Given the description of an element on the screen output the (x, y) to click on. 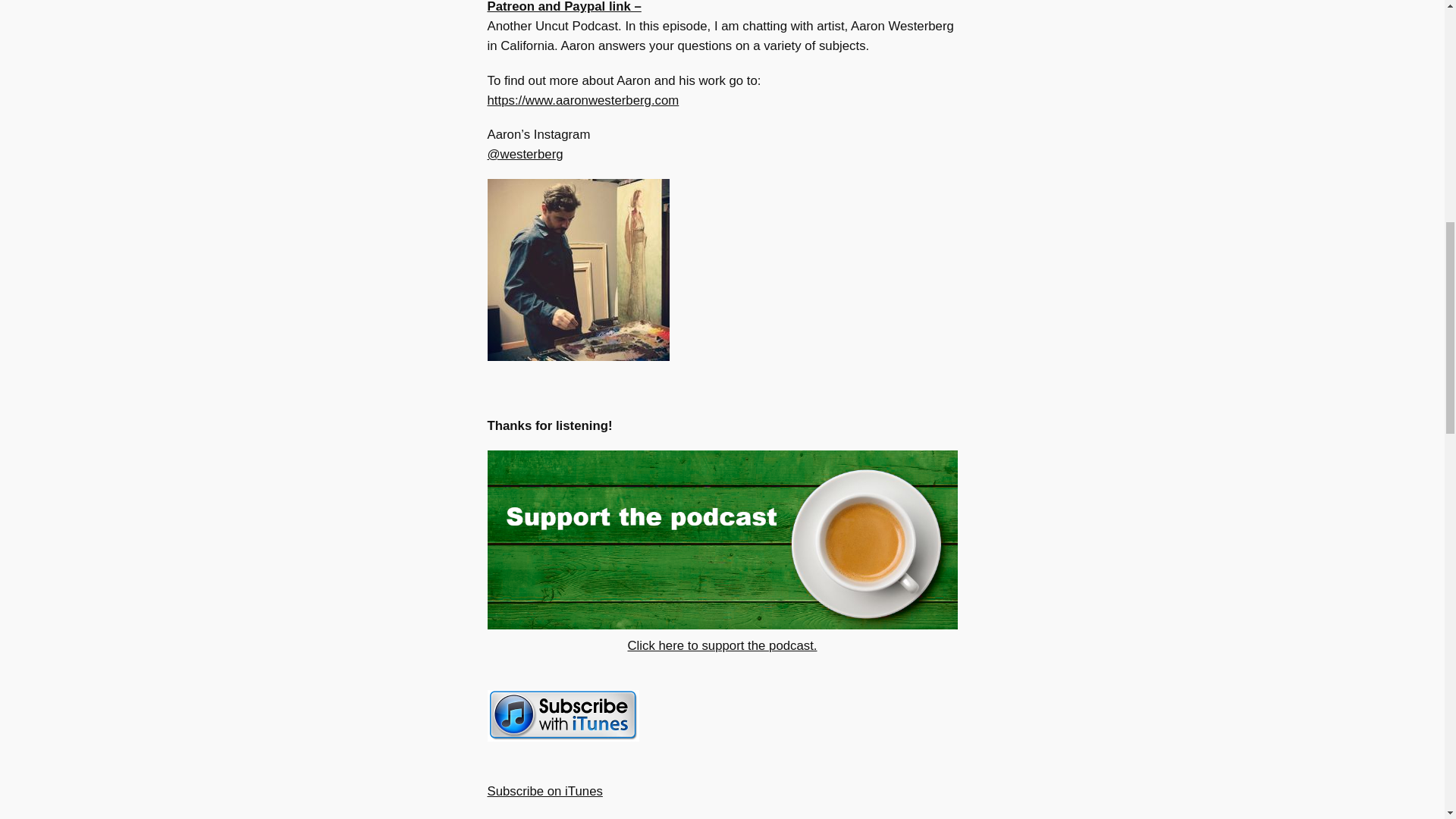
Click here to support the podcast. (792, 655)
Subscribe on iTunes (544, 800)
